Given the description of an element on the screen output the (x, y) to click on. 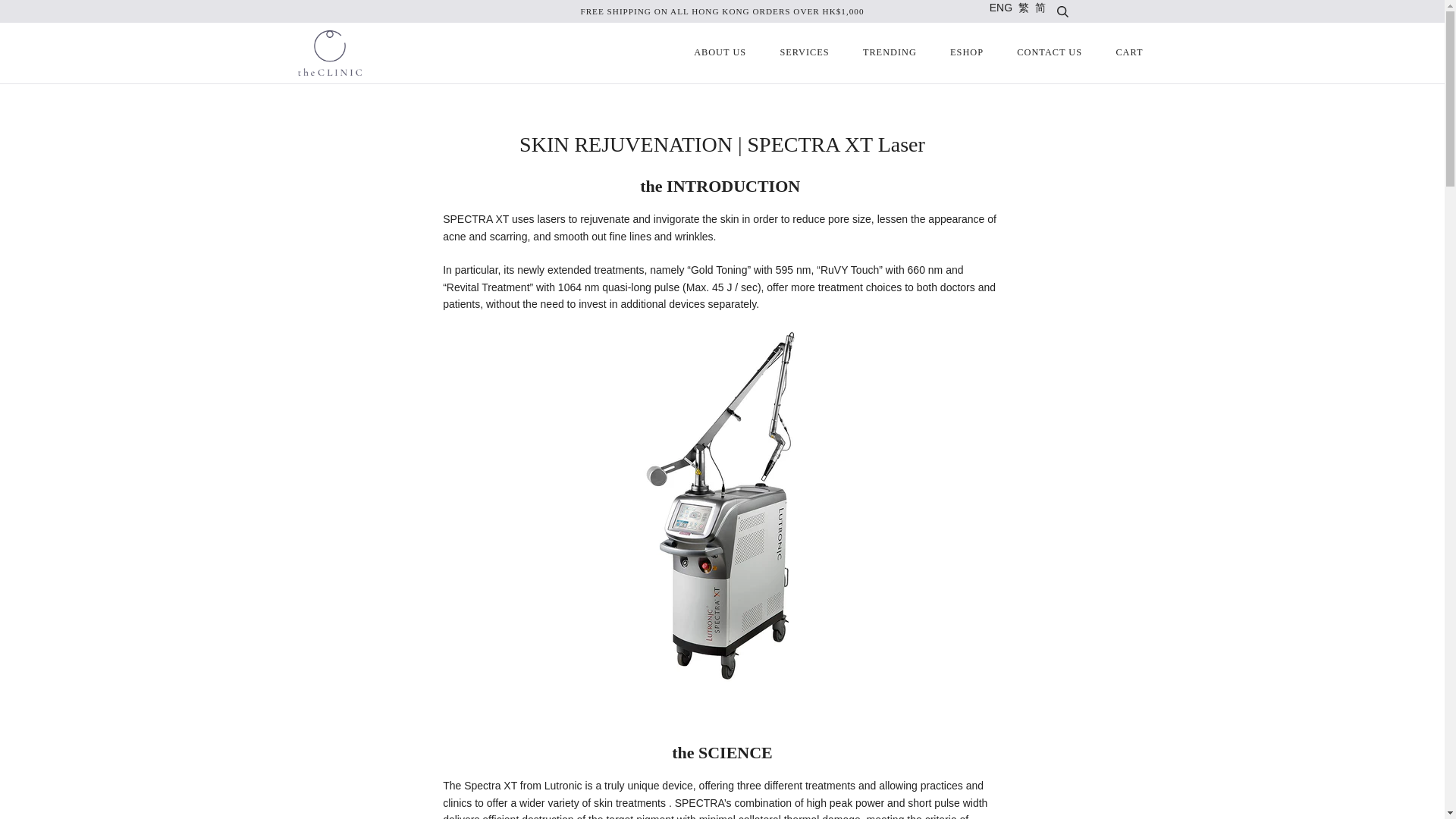
ENG (1000, 7)
SERVICES (804, 52)
ABOUT US (719, 52)
TRENDING (889, 52)
CONTACT US (1049, 52)
